Given the description of an element on the screen output the (x, y) to click on. 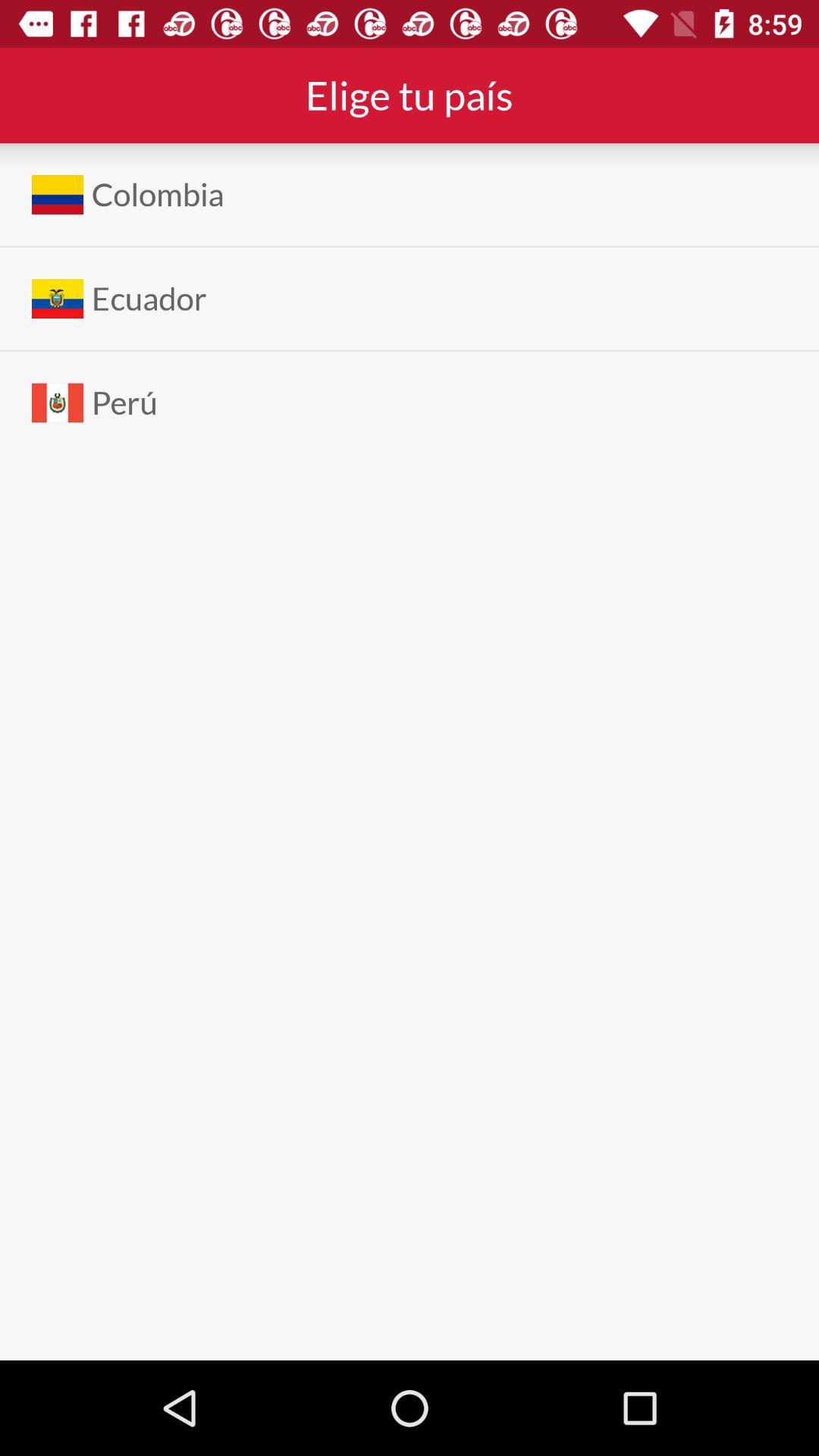
scroll to colombia (157, 194)
